Given the description of an element on the screen output the (x, y) to click on. 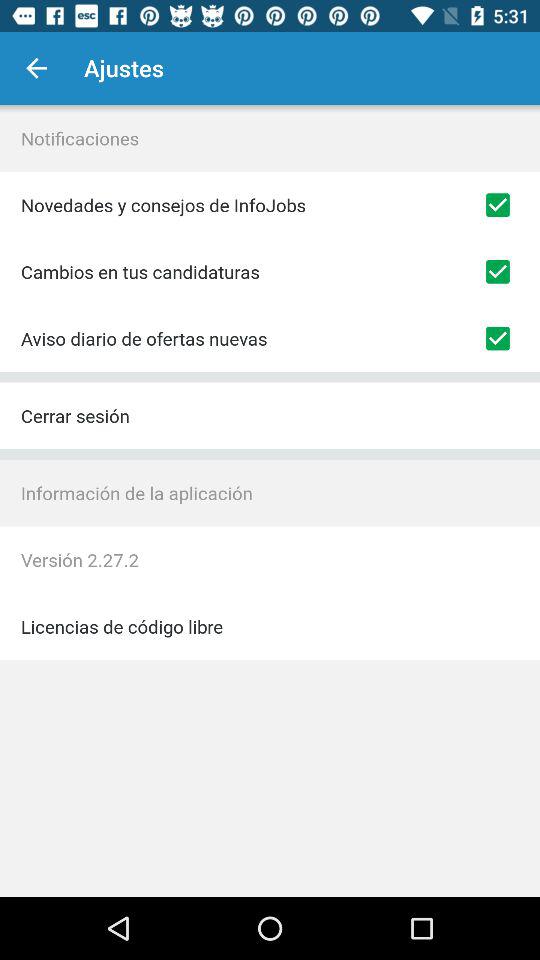
job options toggle (498, 205)
